Given the description of an element on the screen output the (x, y) to click on. 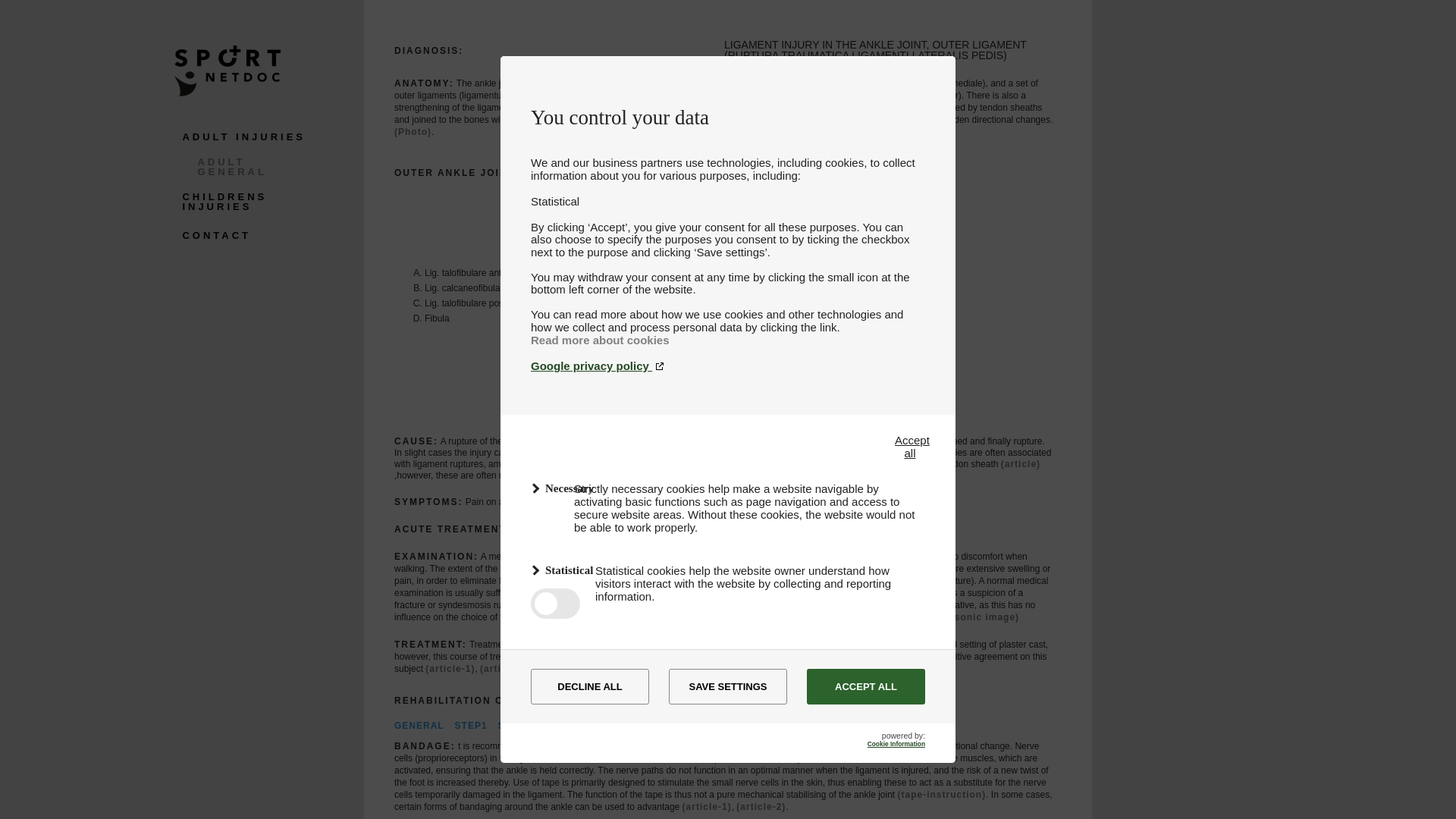
ACCEPT ALL (865, 686)
DECLINE ALL (590, 686)
Read more about cookies (600, 339)
Cookie Information (895, 743)
Statistical (543, 570)
Necessary (542, 488)
Google privacy policy (727, 365)
SAVE SETTINGS (727, 686)
Accept all (909, 446)
